Given the description of an element on the screen output the (x, y) to click on. 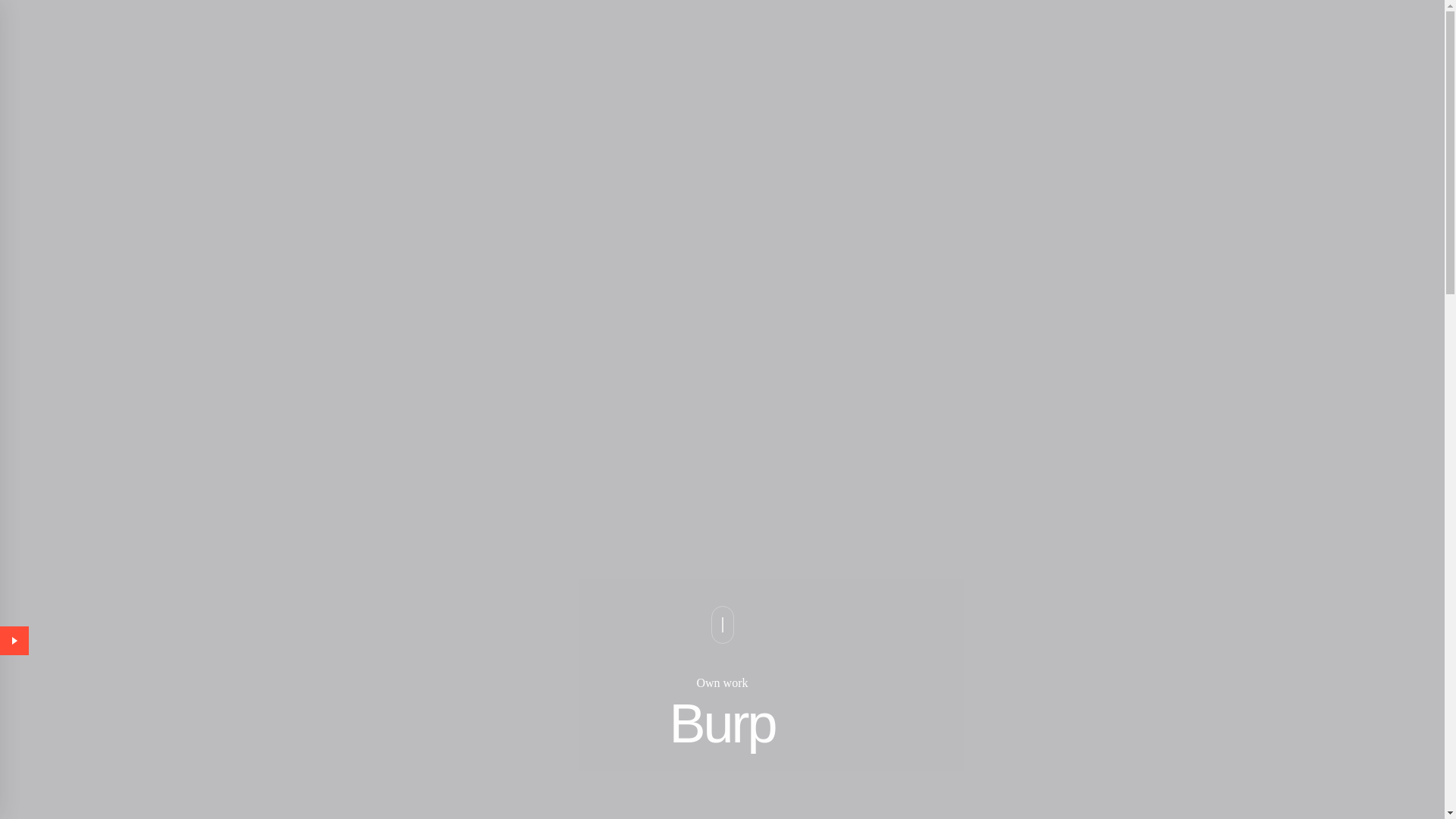
Own work (721, 682)
